Given the description of an element on the screen output the (x, y) to click on. 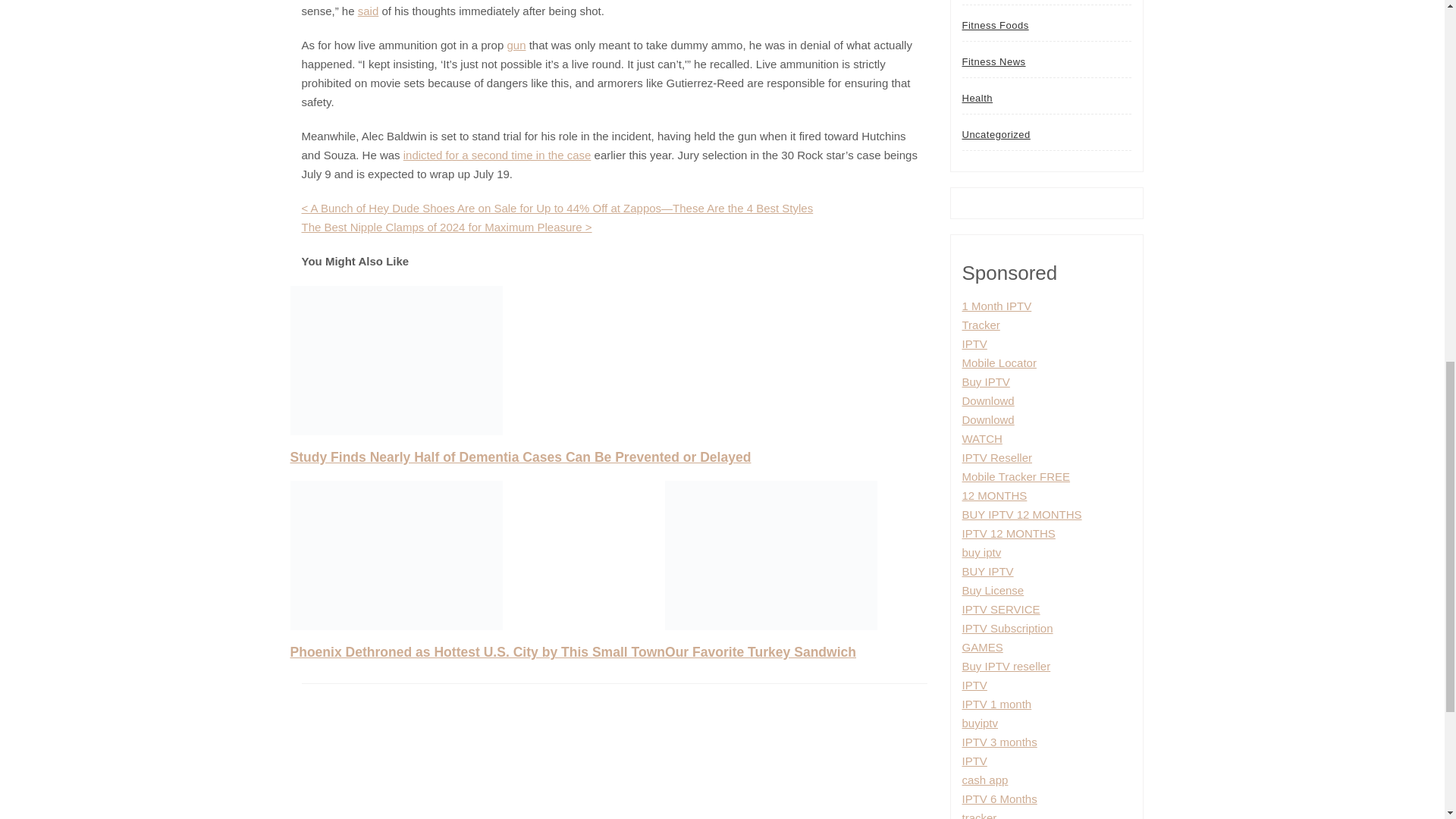
Phoenix Dethroned as Hottest U.S. City by This Small Town (477, 652)
said (368, 10)
indicted for a second time in the case (497, 154)
Our Favorite Turkey Sandwich (760, 652)
gun (515, 44)
